Given the description of an element on the screen output the (x, y) to click on. 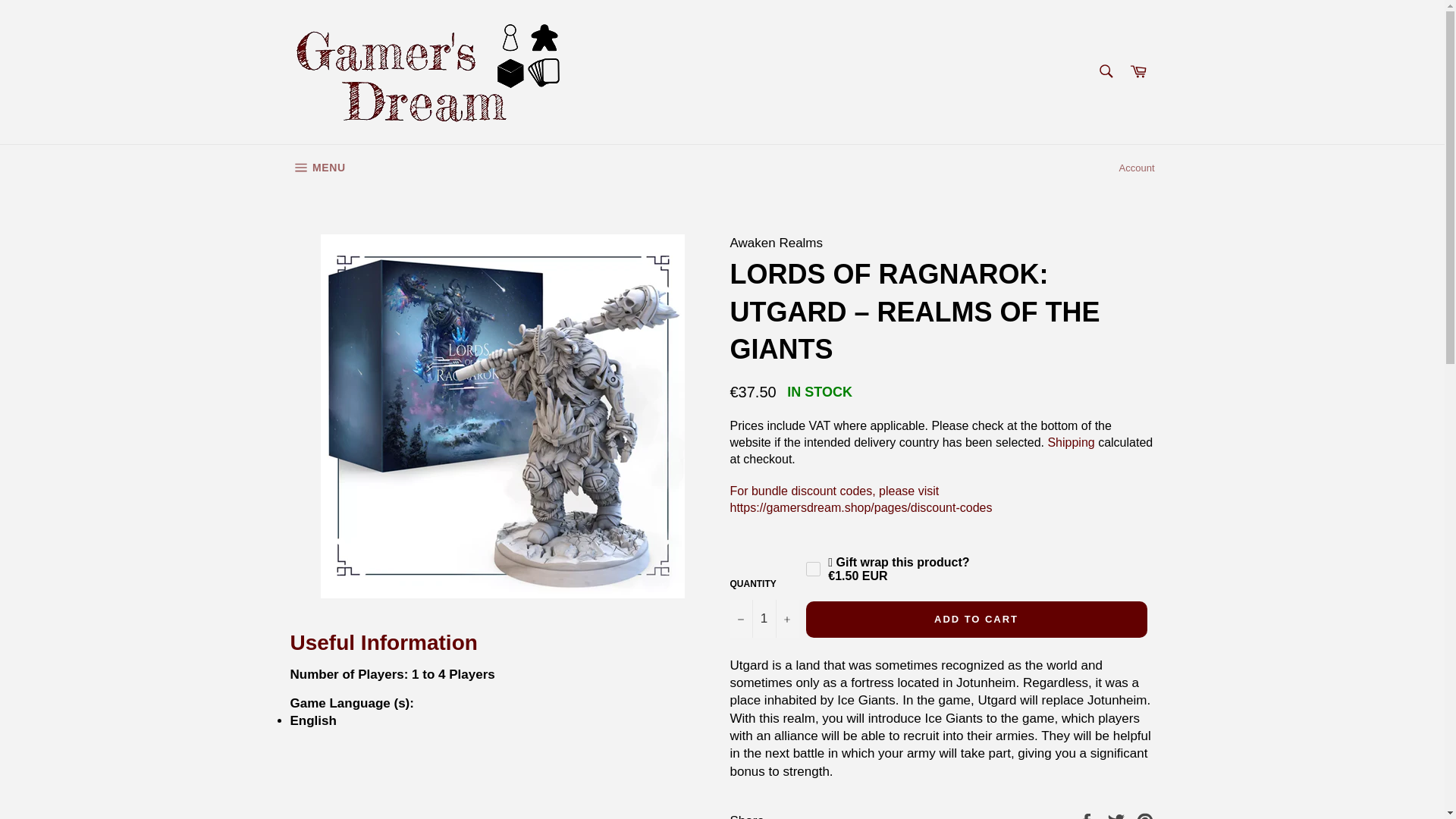
Tweet on Twitter (317, 167)
Pin on Pinterest (1117, 816)
Search (1144, 816)
47125833908547 (1104, 70)
Cart (813, 569)
Share on Facebook (1138, 71)
1 (1088, 816)
